Given the description of an element on the screen output the (x, y) to click on. 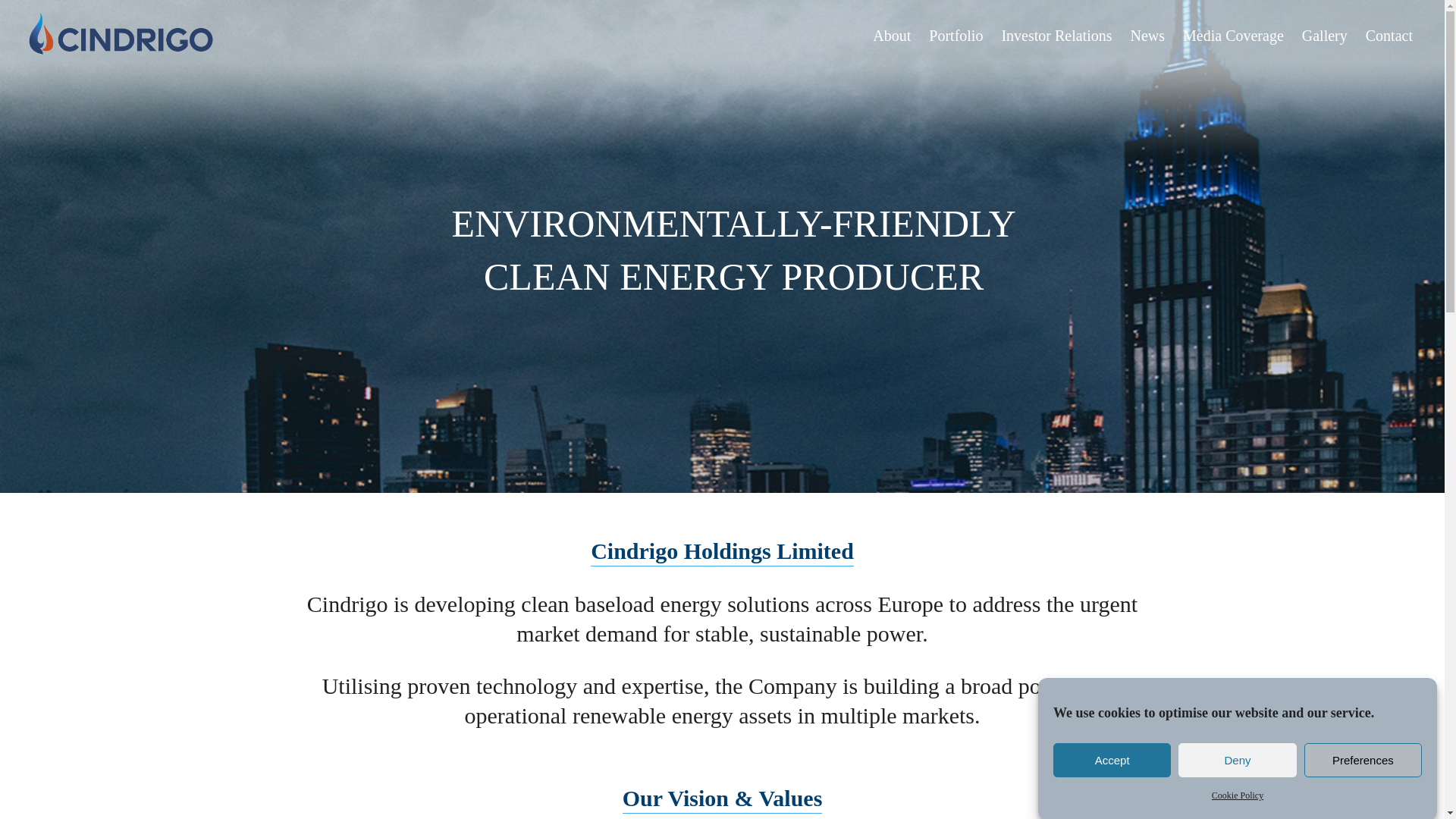
Portfolio (955, 33)
Gallery (1324, 33)
Portfolio (955, 33)
Investor Relations (1056, 33)
Investor Relations (1056, 33)
Contact (1389, 33)
Media Coverage (1232, 33)
Cookie Policy (1237, 815)
Contact (1389, 33)
Gallery (1324, 33)
